Given the description of an element on the screen output the (x, y) to click on. 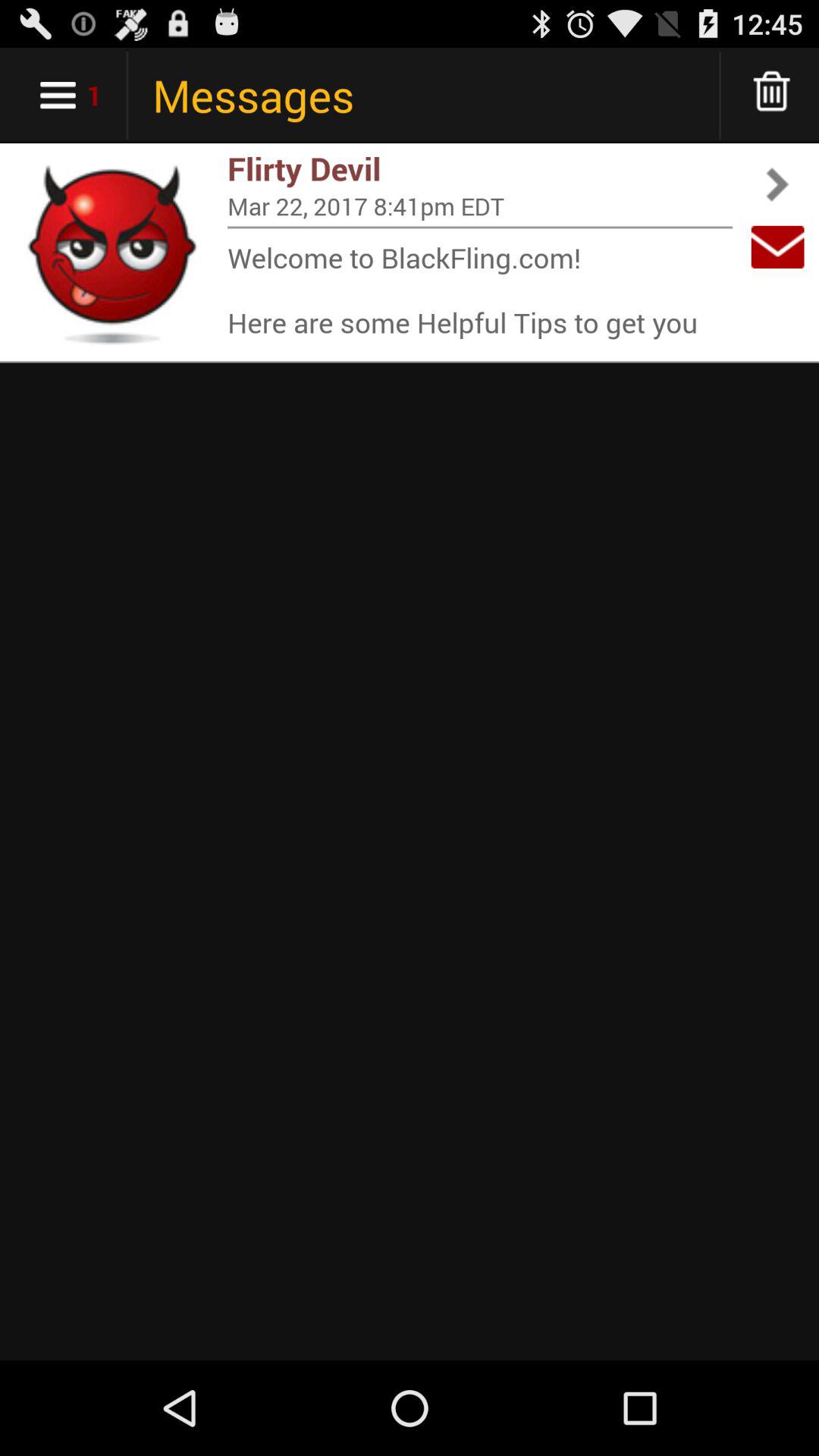
turn off icon above welcome to blackfling app (479, 227)
